Given the description of an element on the screen output the (x, y) to click on. 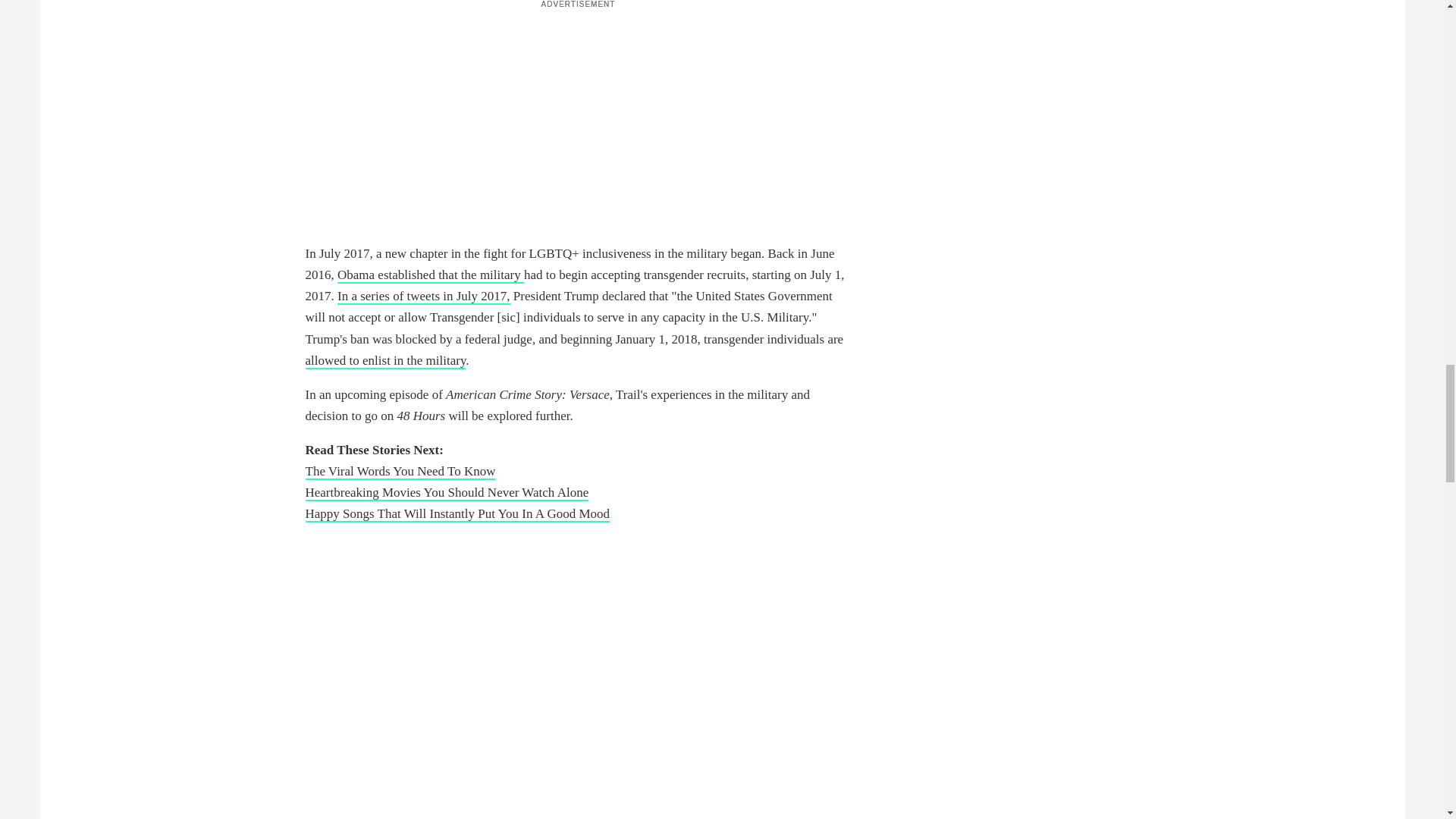
Heartbreaking Movies You Should Never Watch Alone (446, 493)
In a series of tweets in July 2017, (424, 296)
The Viral Words You Need To Know (399, 471)
Happy Songs That Will Instantly Put You In A Good Mood (457, 514)
allowed to enlist in the military (384, 360)
Obama established that the military (430, 275)
